Given the description of an element on the screen output the (x, y) to click on. 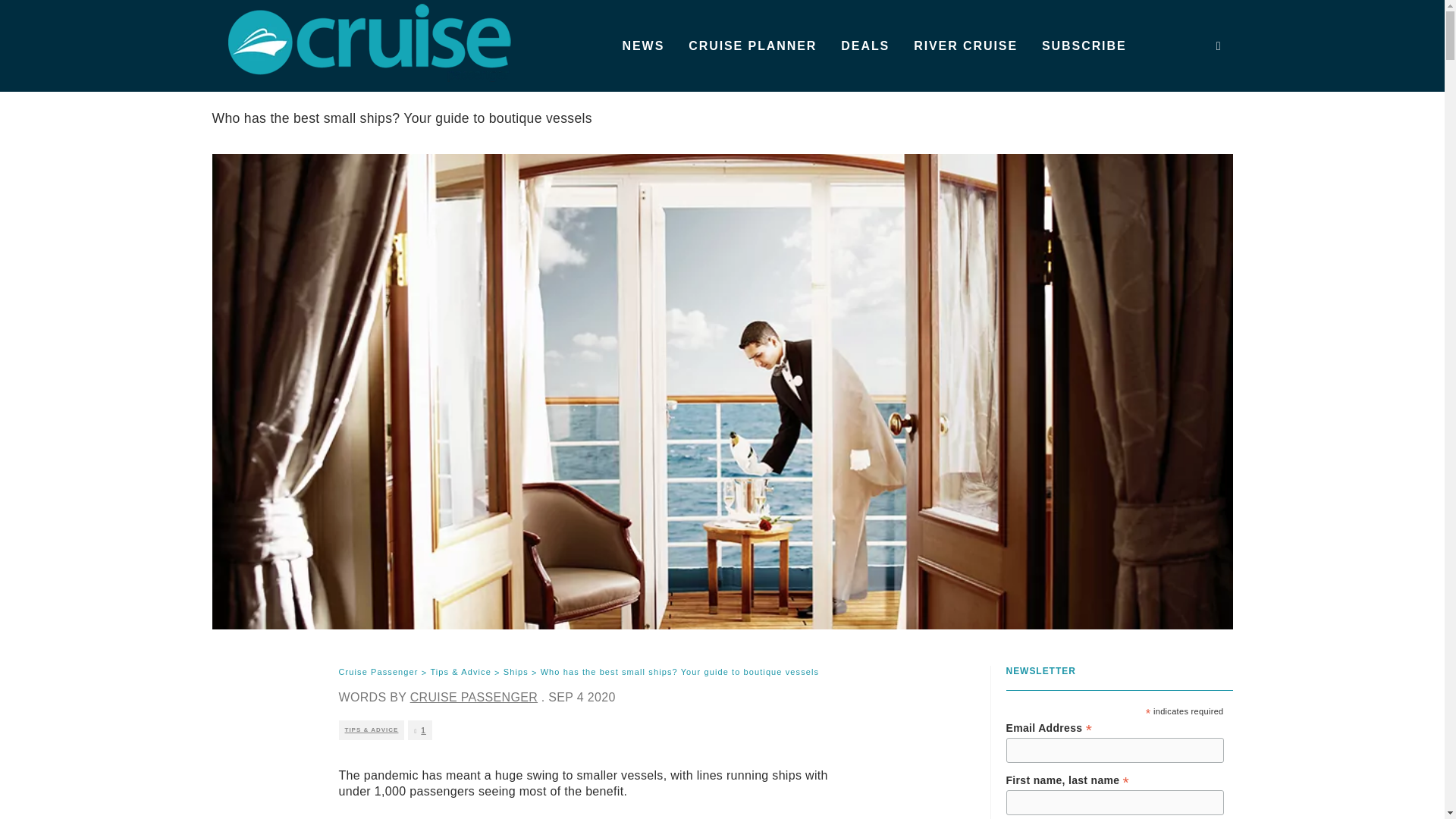
NEWS (643, 45)
SUBSCRIBE (1083, 45)
Cruise Passenger (377, 672)
RIVER CRUISE (965, 45)
Go to the Ships Category archives. (515, 672)
CRUISE PLANNER (752, 45)
DEALS (864, 45)
Go to Cruise Passenger. (377, 672)
Ships (515, 672)
